Given the description of an element on the screen output the (x, y) to click on. 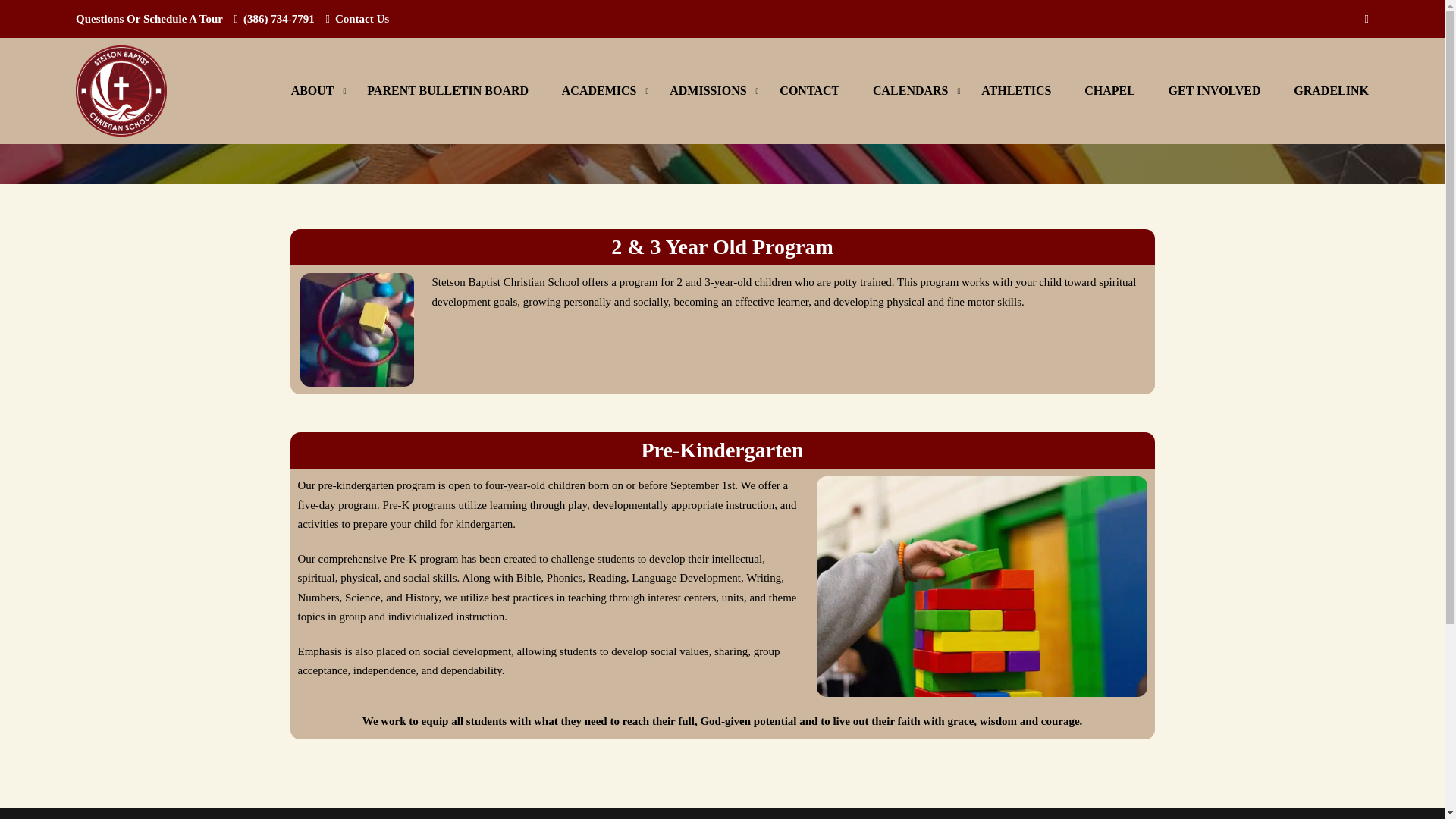
Contact Us (361, 19)
PARENT BULLETIN BOARD (447, 90)
ADMISSIONS (707, 90)
Stetson Baptist Christian School -  (121, 90)
CONTACT (809, 90)
ACADEMICS (599, 90)
ABOUT (312, 90)
